Given the description of an element on the screen output the (x, y) to click on. 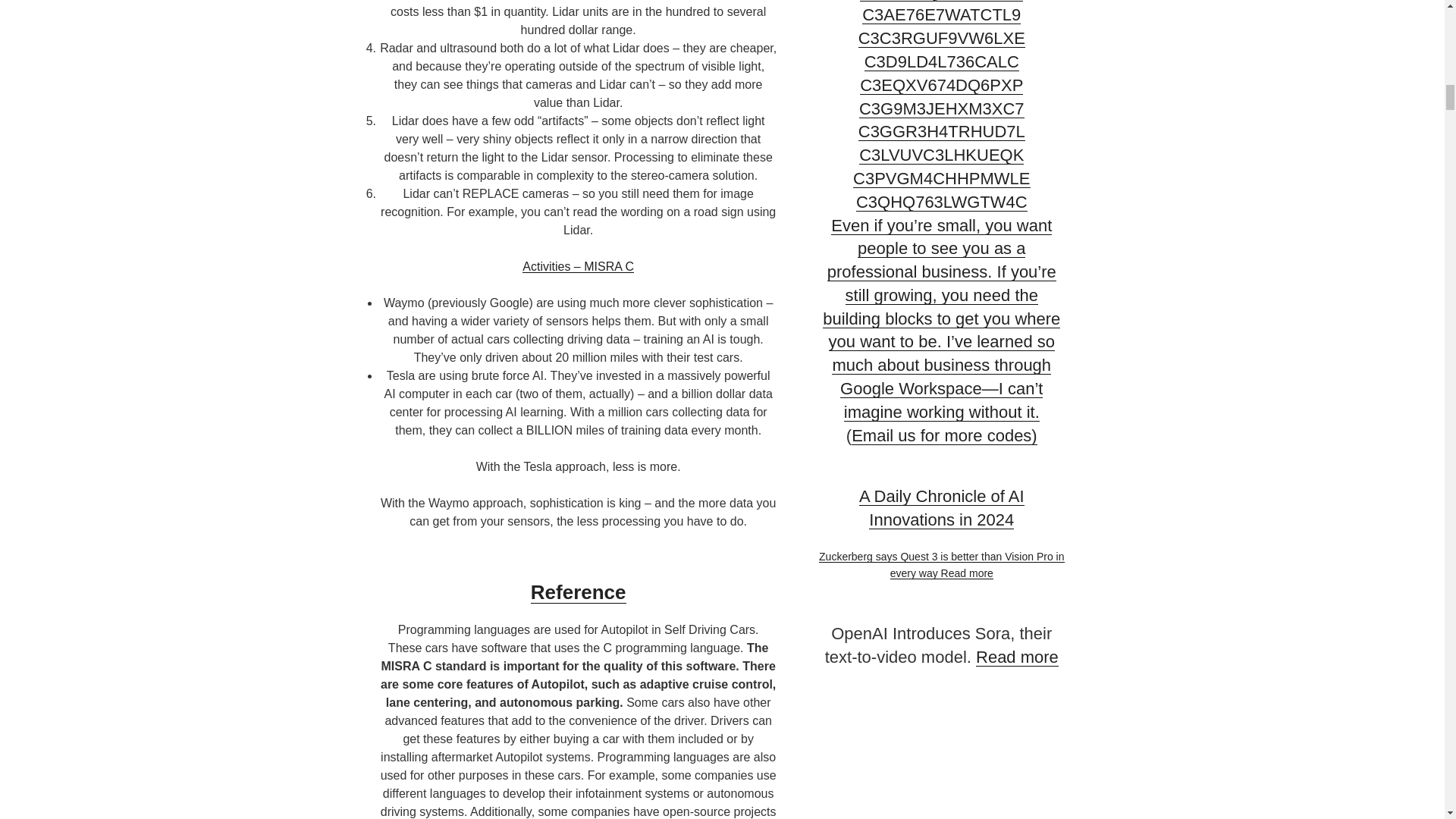
Reference (578, 591)
www.misra.org.uk (577, 266)
